Given the description of an element on the screen output the (x, y) to click on. 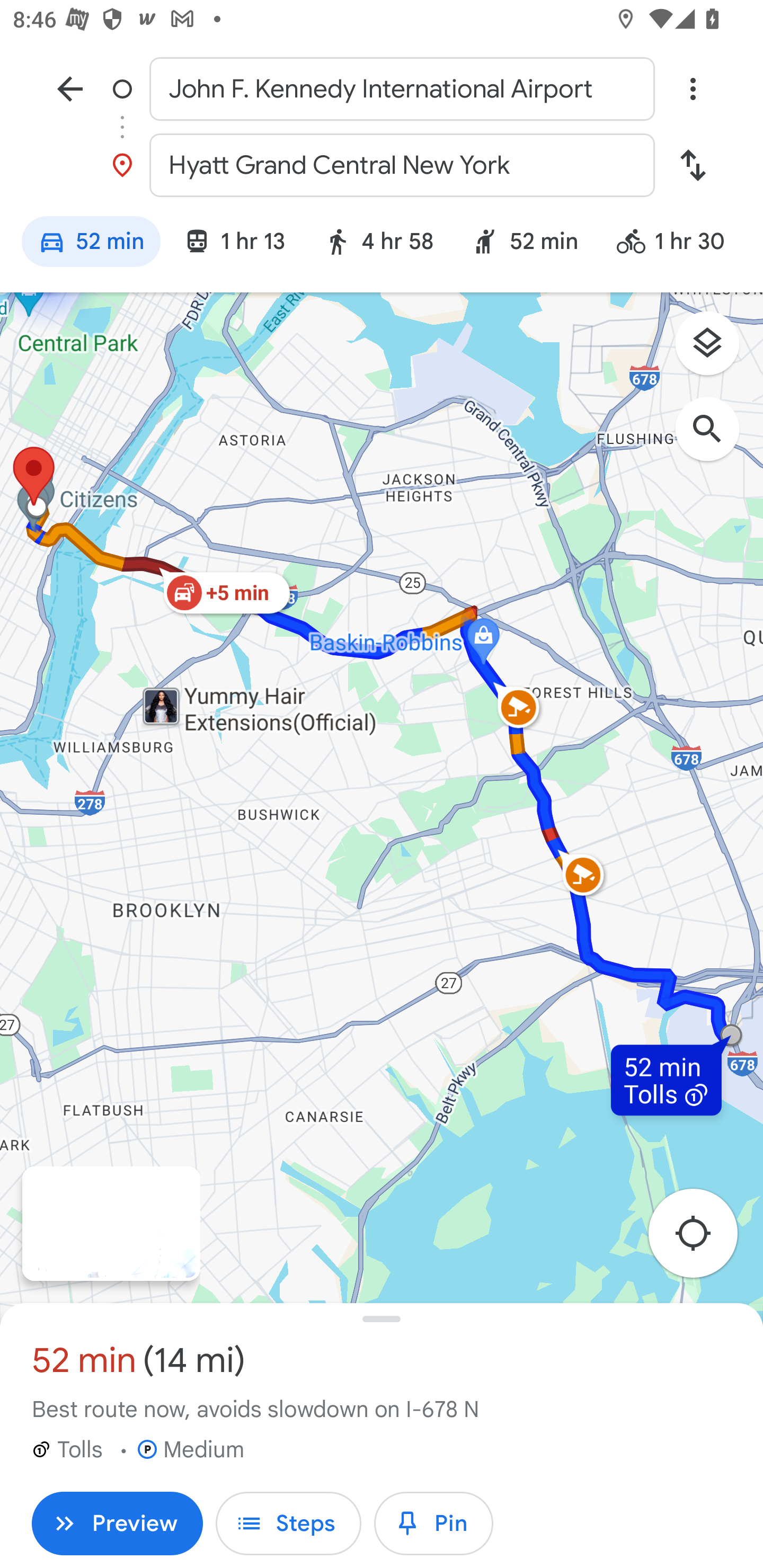
Navigate up (70, 88)
Overflow menu (692, 88)
Swap start and destination (692, 165)
Transit mode: 1 hr 13 1 hr 13 (234, 244)
Walking mode: 4 hr 58 4 hr 58 (378, 244)
Ride service: 52 min 52 min (524, 244)
Bicycling mode: 1 hr 30 1 hr 30 (678, 244)
Layers (716, 349)
Search along route (716, 438)
Open Immersive View for routes (110, 1223)
Re-center map to your location (702, 1238)
Steps Steps Steps (288, 1522)
Pin trip Pin Pin trip (433, 1522)
